Given the description of an element on the screen output the (x, y) to click on. 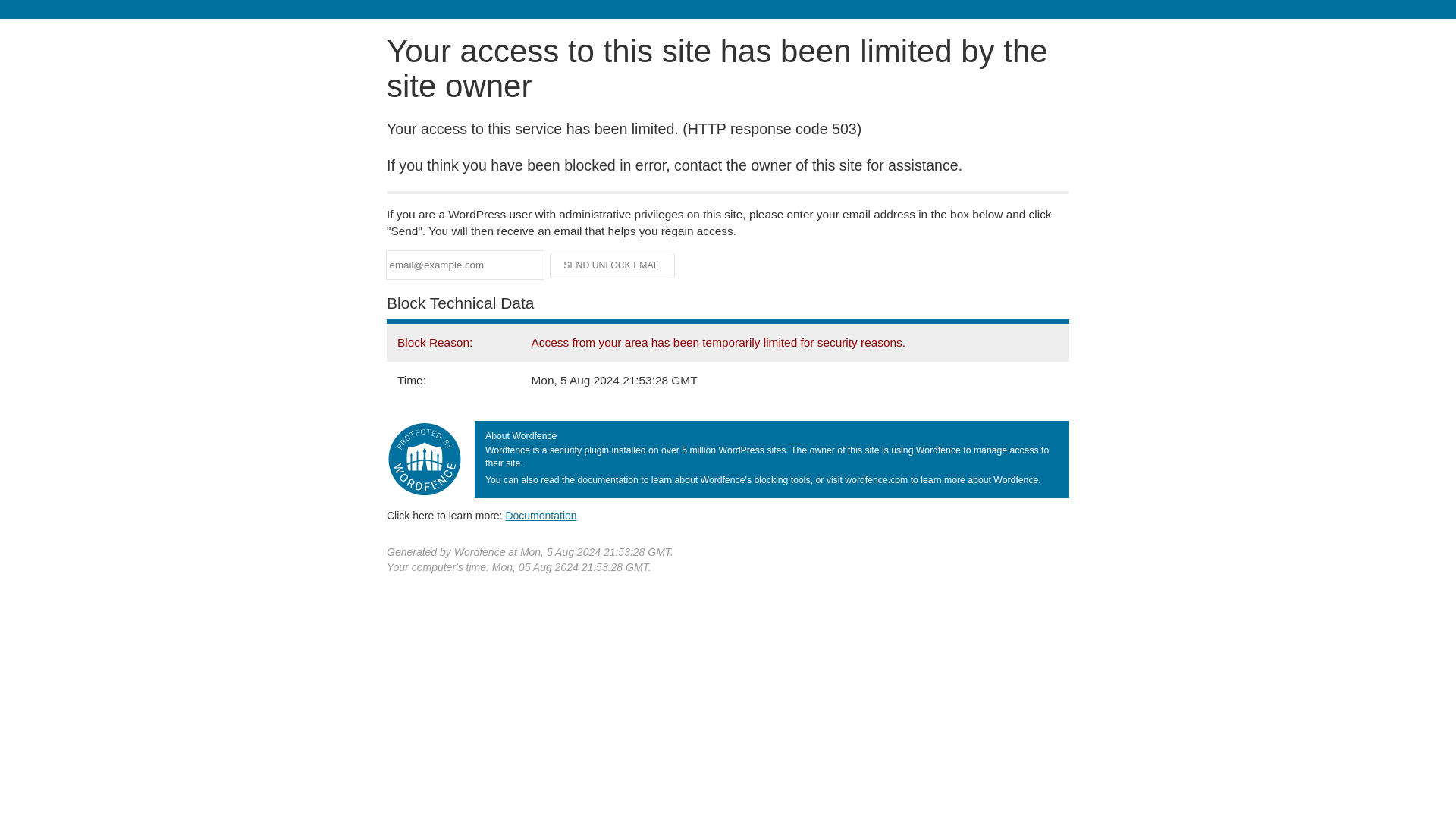
Send Unlock Email (612, 265)
Documentation (540, 515)
Send Unlock Email (612, 265)
